Given the description of an element on the screen output the (x, y) to click on. 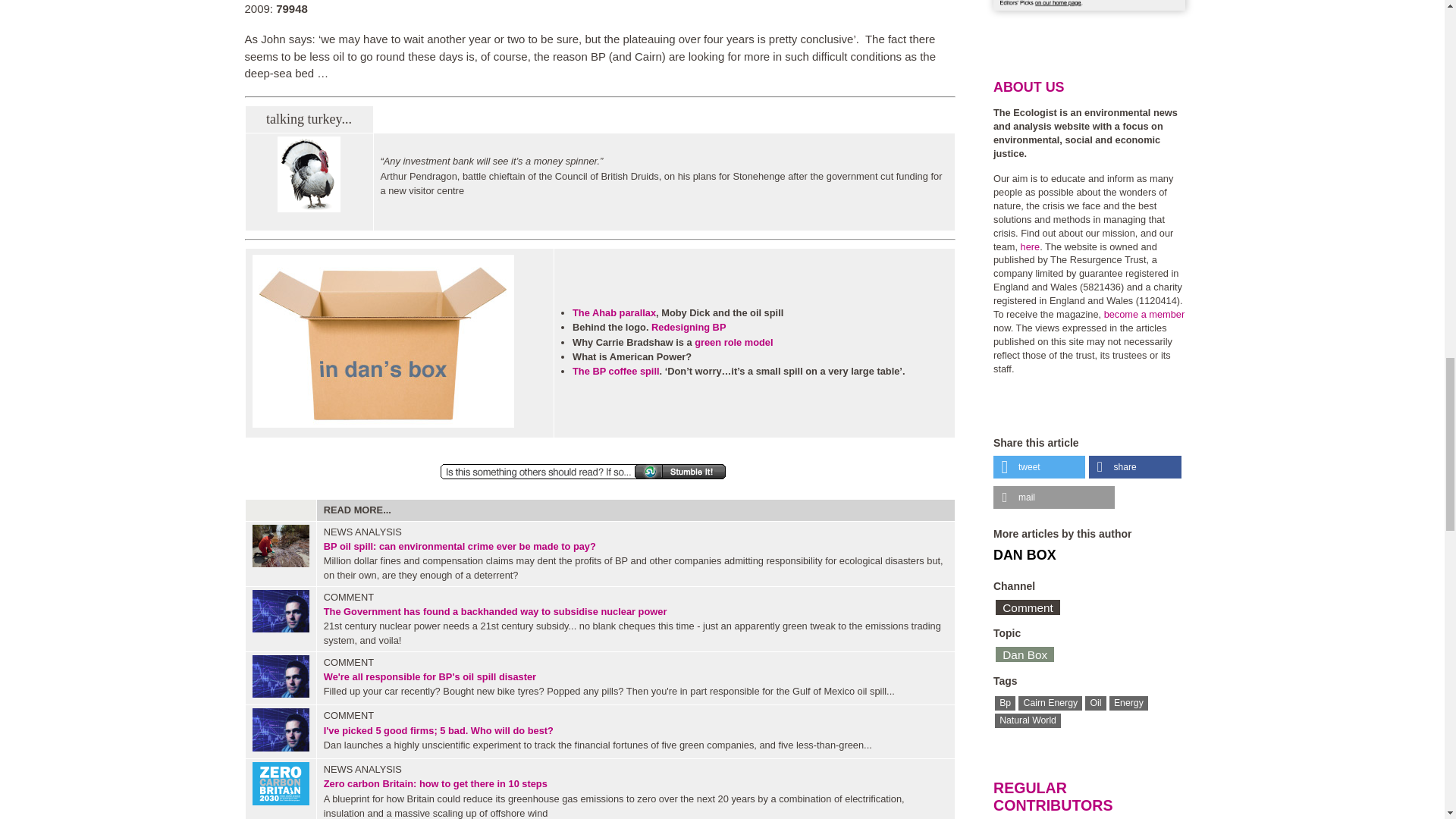
Send by email (1053, 497)
The Ahab parallax (614, 312)
Redesigning BP (687, 326)
Share on Twitter (1038, 466)
Share on Facebook (1134, 466)
